Given the description of an element on the screen output the (x, y) to click on. 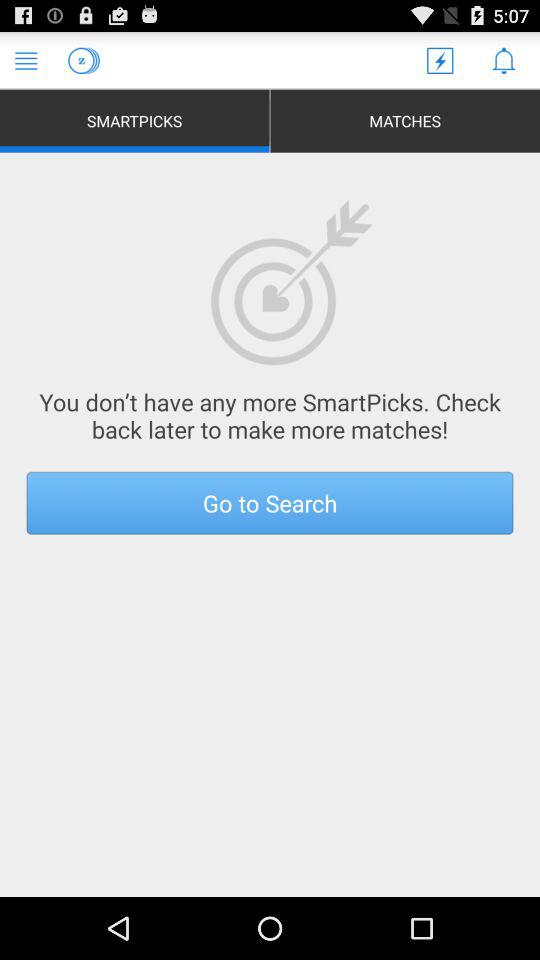
select the go to search button (269, 502)
